Given the description of an element on the screen output the (x, y) to click on. 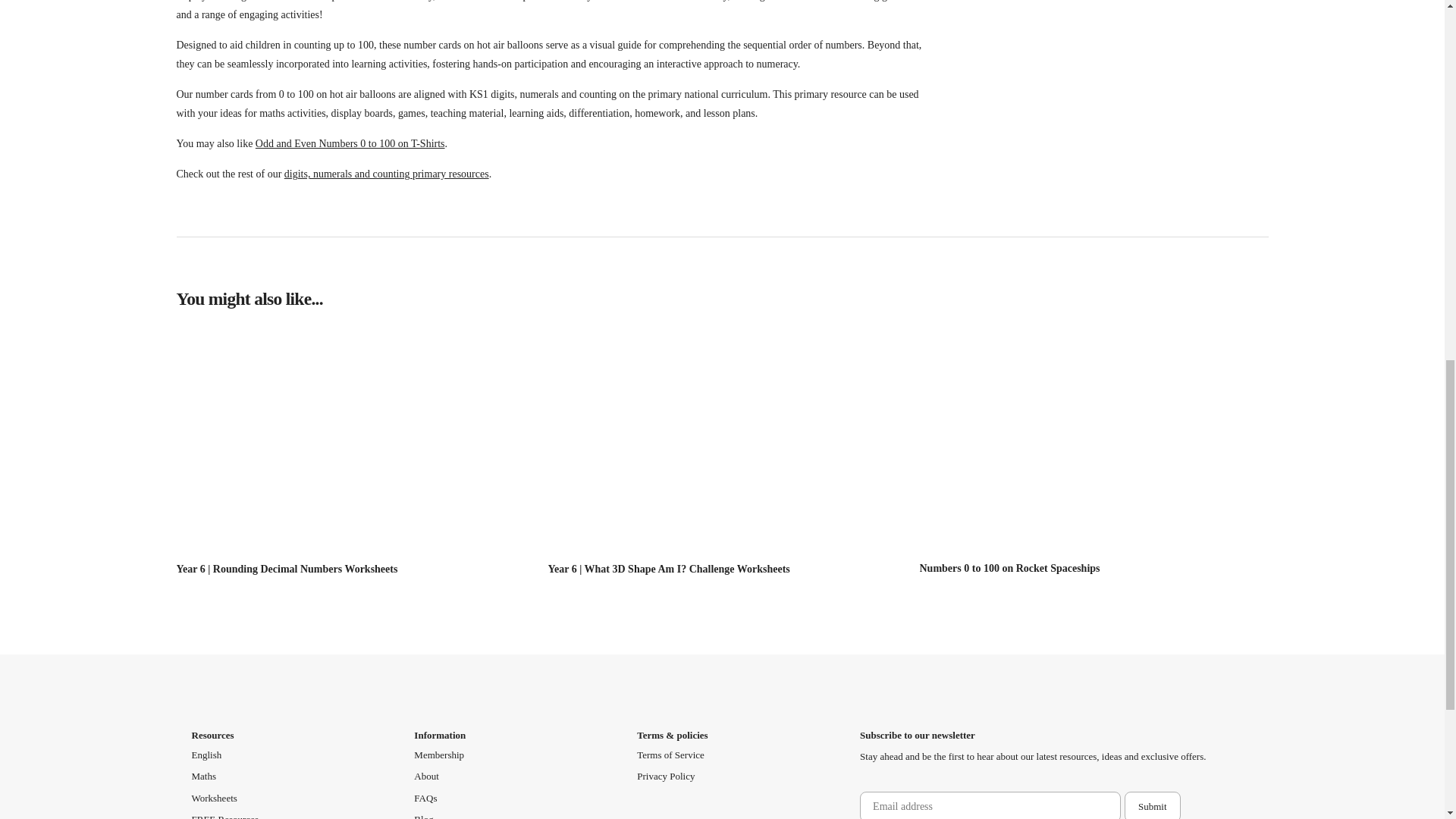
Odd and Even Numbers 0 to 100 on T-Shirts (350, 143)
Worksheets (212, 798)
English (205, 754)
Maths (202, 776)
digits, numerals and counting primary resources (386, 173)
